Given the description of an element on the screen output the (x, y) to click on. 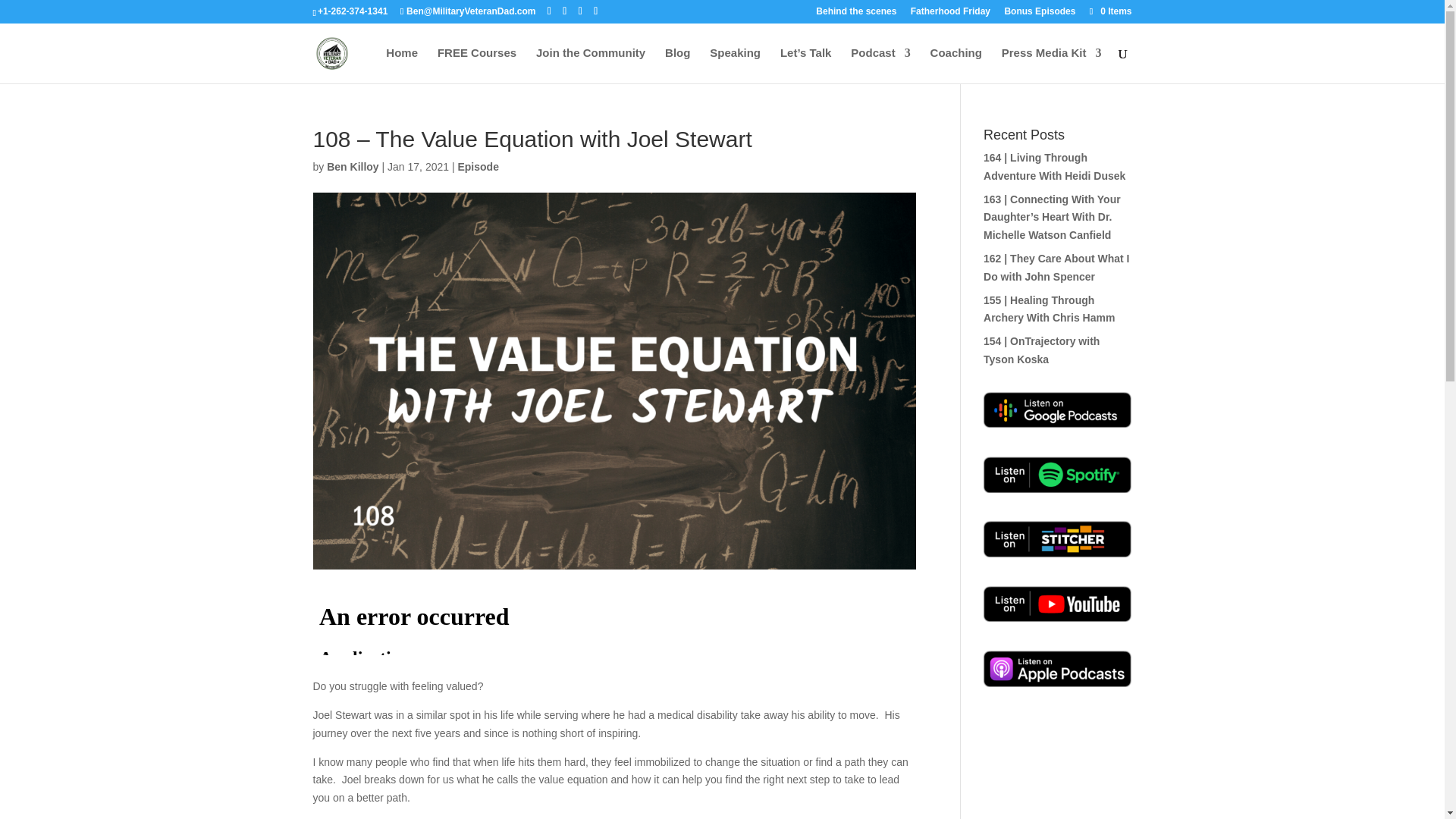
Speaking (735, 65)
Podcast (880, 65)
Behind the scenes (855, 14)
Press Media Kit (1051, 65)
Bonus Episodes (1039, 14)
Fatherhood Friday (950, 14)
Coaching (955, 65)
FREE Courses (477, 65)
Home (401, 65)
0 Items (1108, 10)
